Given the description of an element on the screen output the (x, y) to click on. 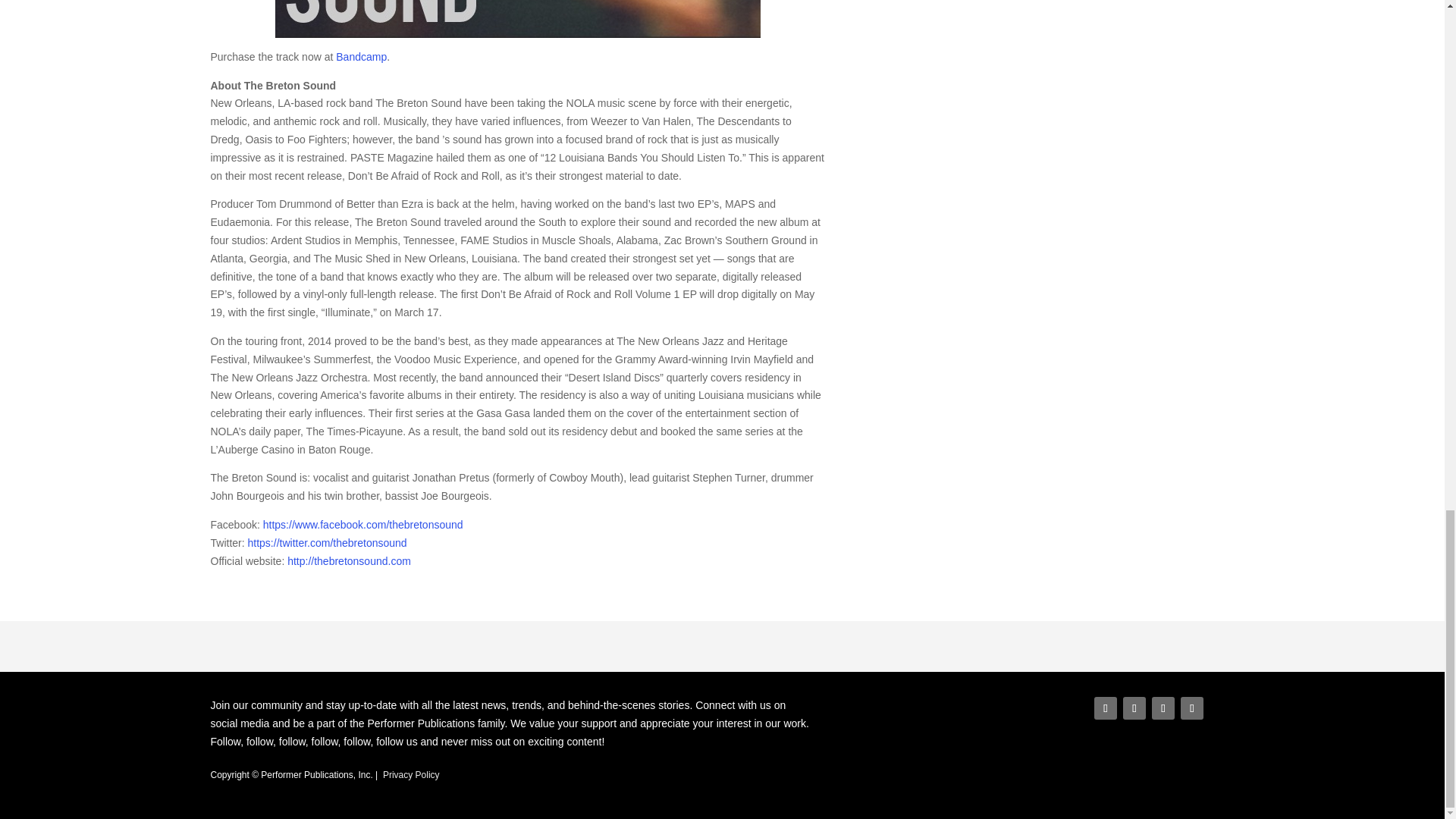
Follow on Youtube (1192, 707)
Follow on Instagram (1162, 707)
Follow on Facebook (1105, 707)
Follow on X (1133, 707)
